Given the description of an element on the screen output the (x, y) to click on. 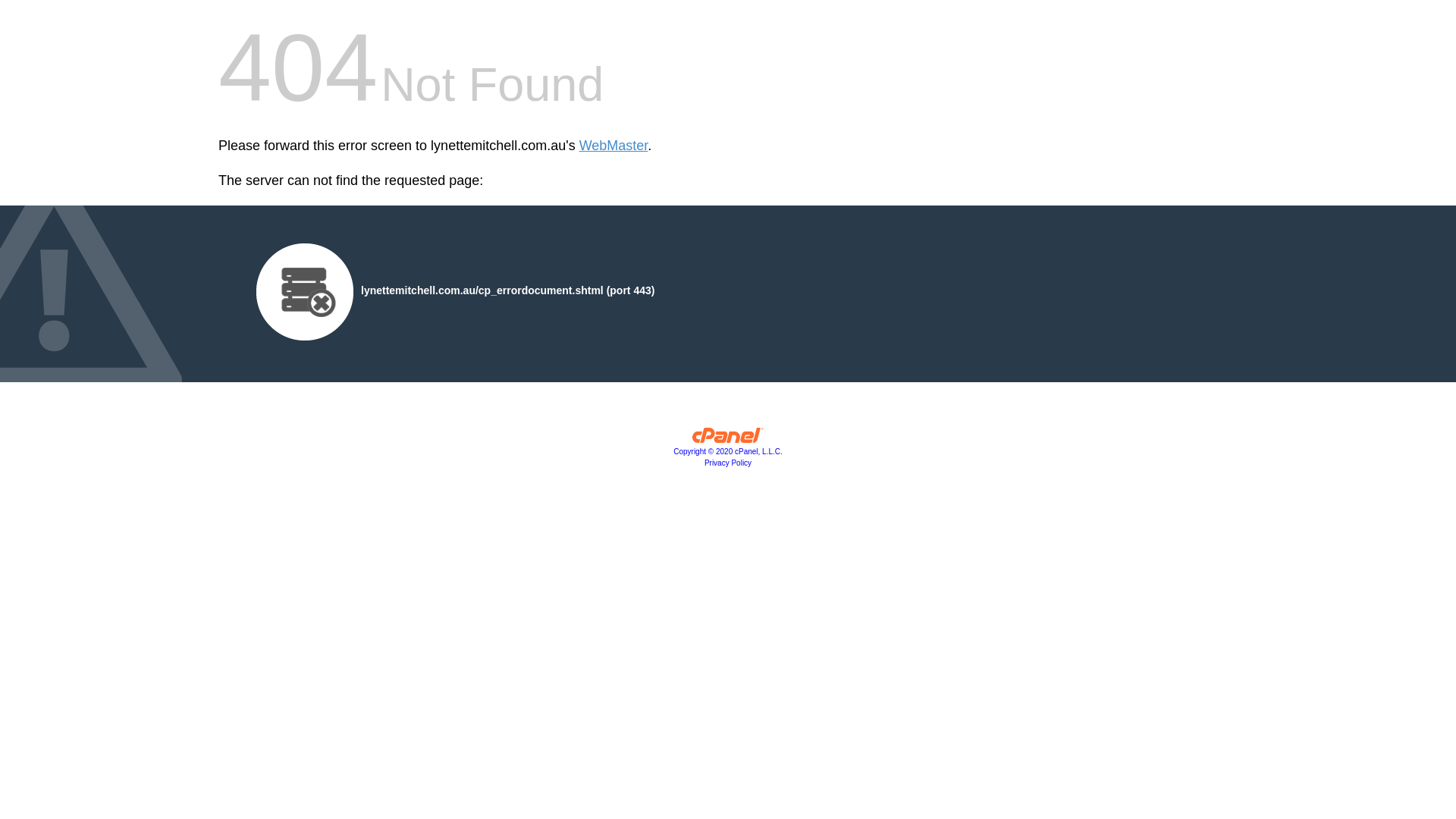
Privacy Policy Element type: text (727, 462)
WebMaster Element type: text (613, 145)
cPanel, Inc. Element type: hover (728, 439)
